Given the description of an element on the screen output the (x, y) to click on. 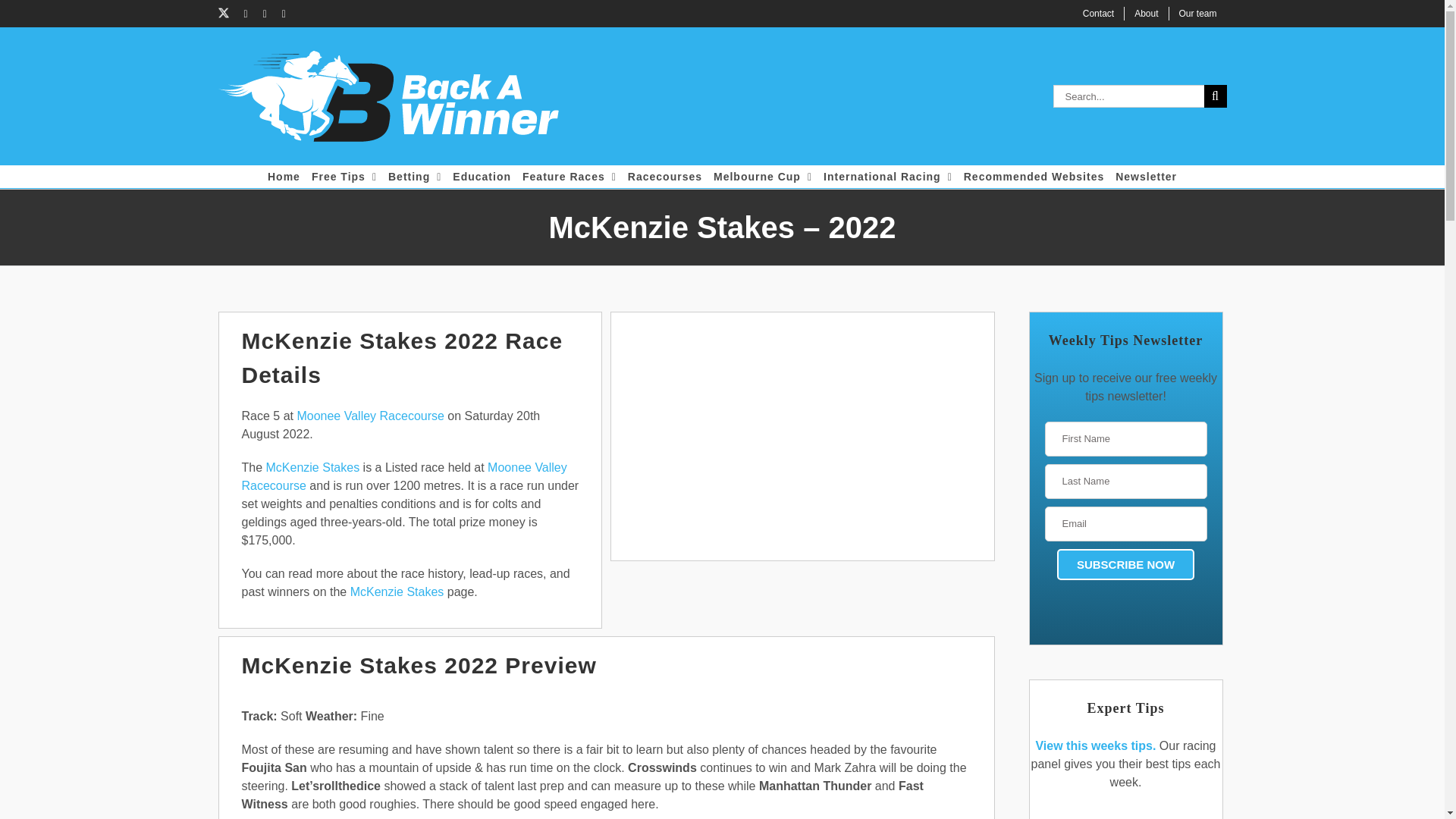
Melbourne Cup (762, 176)
Our team (1198, 13)
How to pick a winner (802, 435)
Home (283, 176)
Betting (414, 176)
Subscribe now (1125, 563)
Contact (1098, 13)
Racecourses (664, 176)
Free Tips (344, 176)
Education (481, 176)
